Given the description of an element on the screen output the (x, y) to click on. 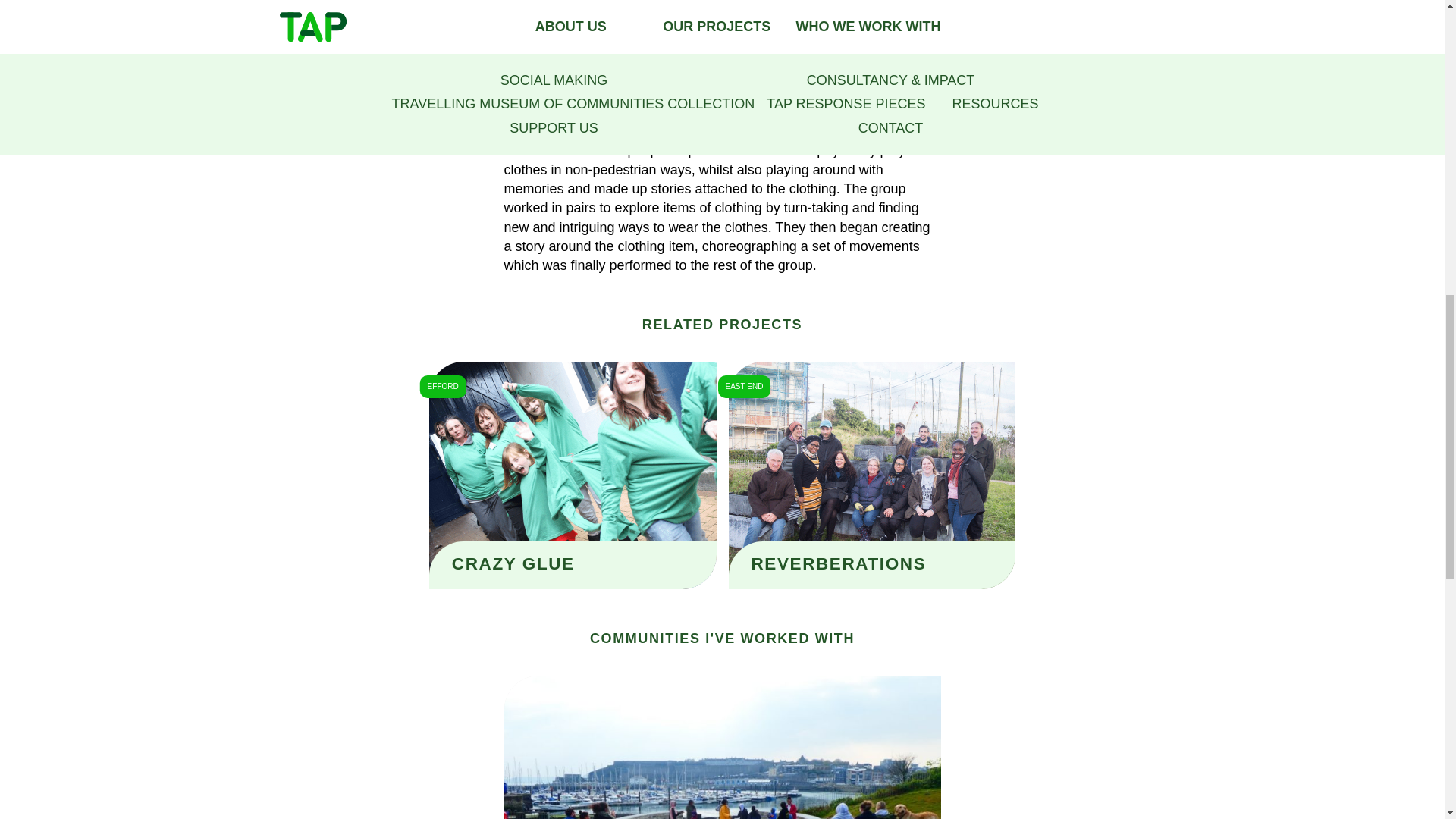
REVERBERATIONS (838, 563)
CRAZY GLUE (513, 563)
EFFORD (442, 386)
EAST END (744, 386)
